Given the description of an element on the screen output the (x, y) to click on. 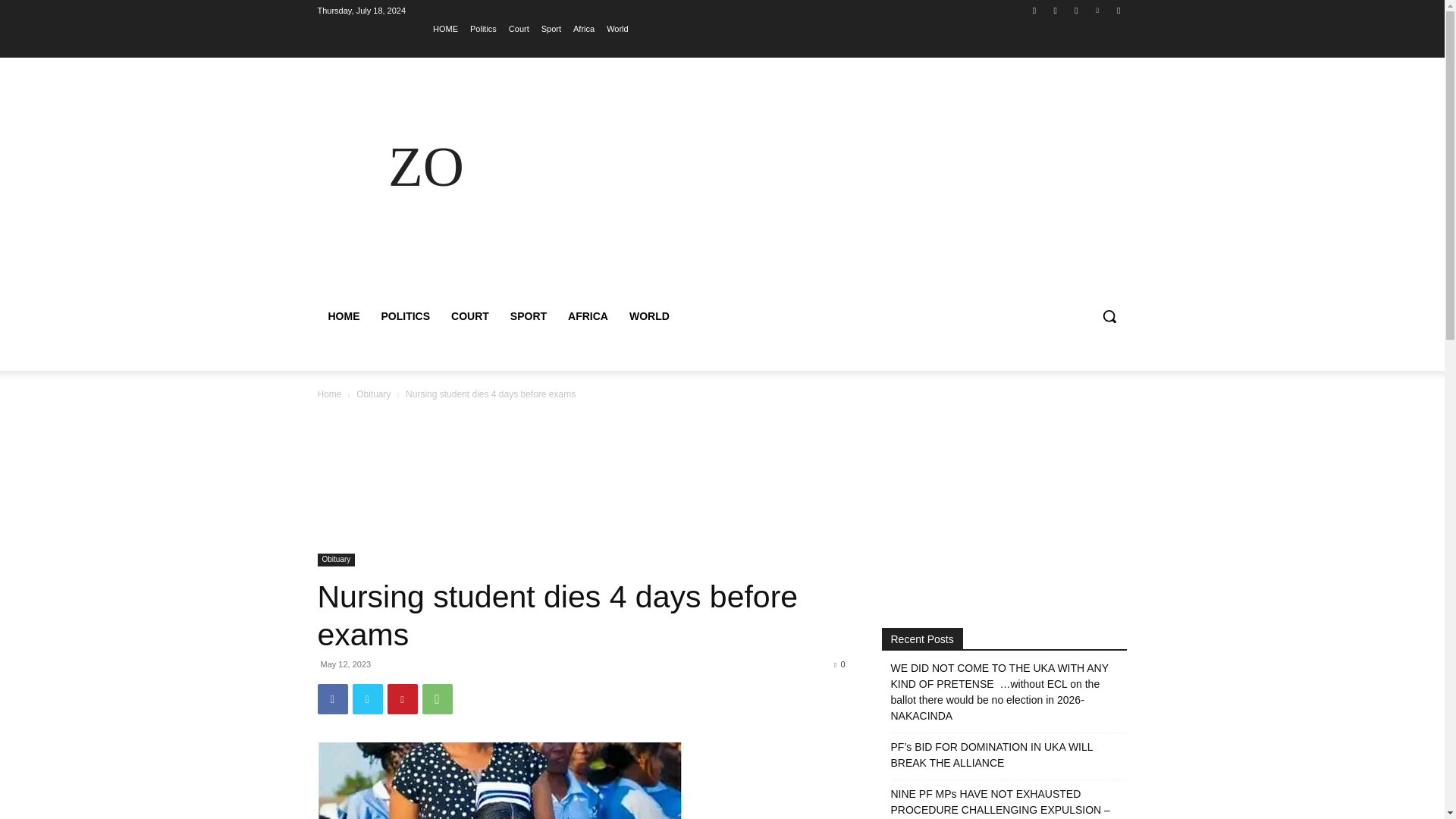
Advertisement (854, 184)
Twitter (1075, 9)
Obituary (336, 559)
POLITICS (405, 316)
0 (839, 664)
Africa (583, 28)
COURT (470, 316)
SPORT (528, 316)
Facebook (332, 698)
Instagram (1055, 9)
AFRICA (587, 316)
Vimeo (1097, 9)
Home (328, 394)
Obituary (373, 394)
Advertisement (580, 481)
